Given the description of an element on the screen output the (x, y) to click on. 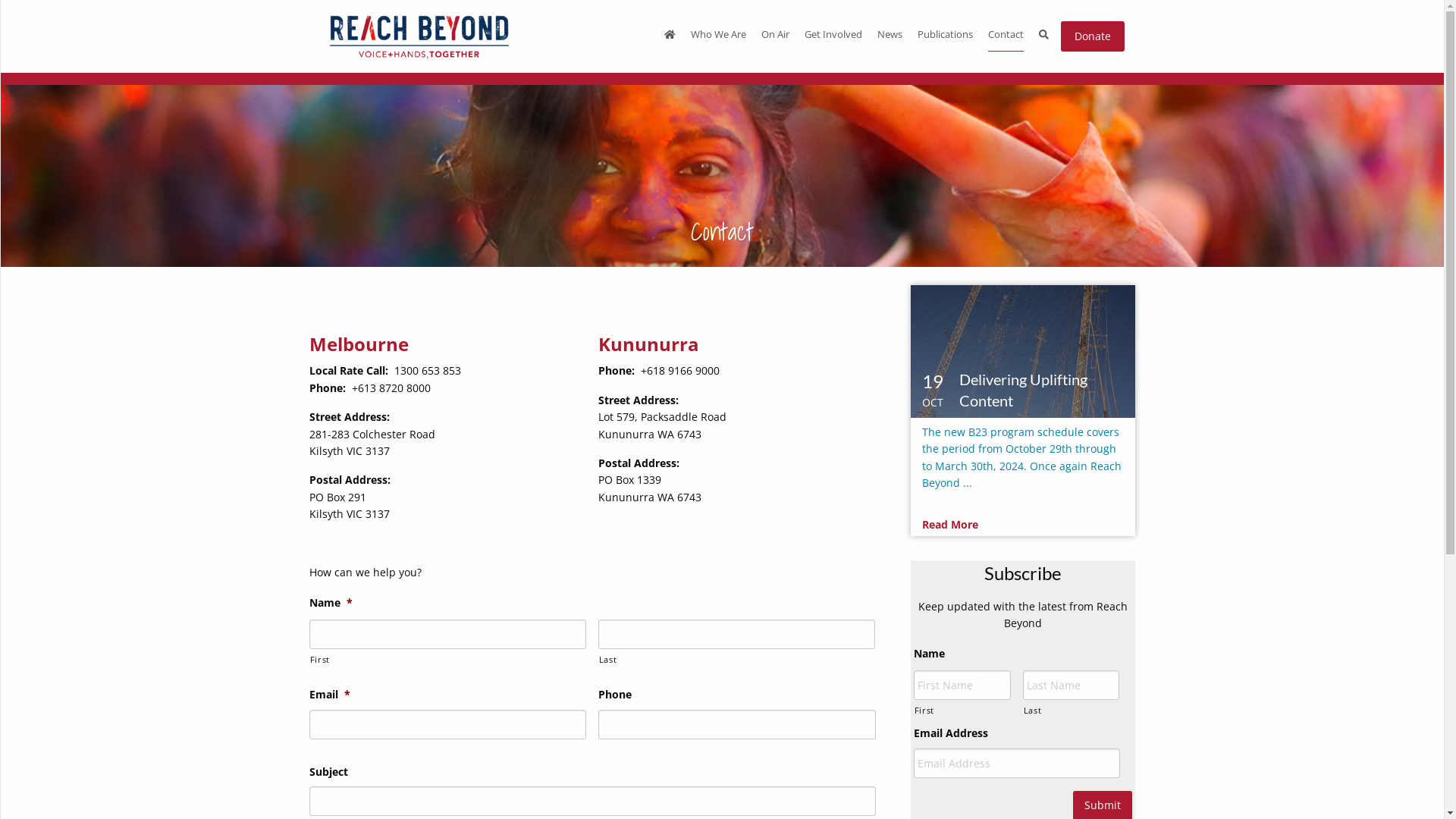
News Element type: text (889, 36)
Publications Element type: text (944, 36)
Who We Are Element type: text (718, 36)
On Air Element type: text (775, 36)
Get Involved Element type: text (833, 36)
Donate Element type: text (1091, 36)
Contact Element type: text (1005, 36)
